Given the description of an element on the screen output the (x, y) to click on. 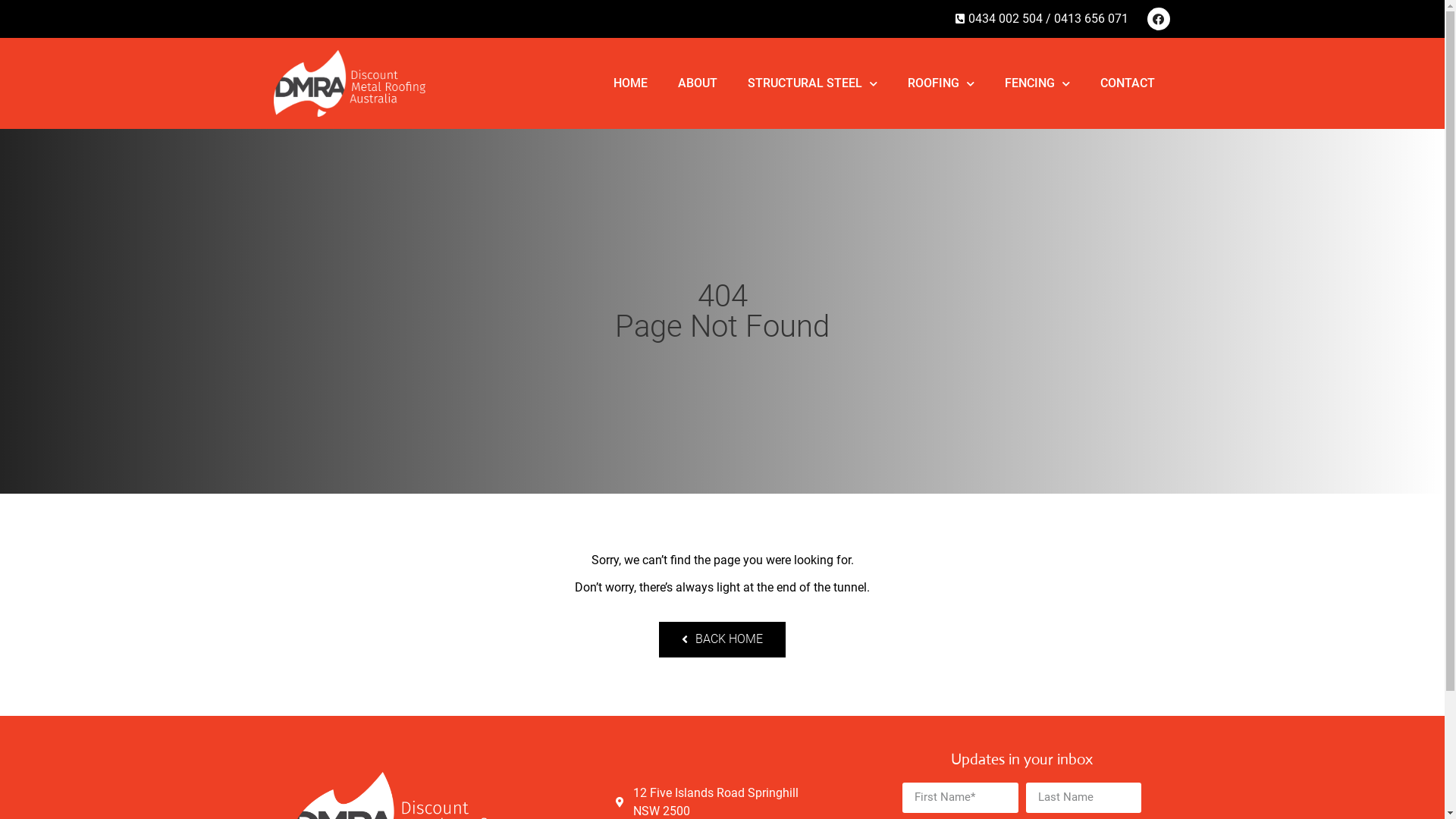
0413 656 071 Element type: text (1091, 18)
HOME Element type: text (629, 83)
CONTACT Element type: text (1126, 83)
0434 002 504 /  Element type: text (1002, 18)
FENCING Element type: text (1036, 83)
STRUCTURAL STEEL Element type: text (812, 83)
ABOUT Element type: text (697, 83)
ROOFING Element type: text (939, 83)
BACK HOME Element type: text (721, 639)
